Given the description of an element on the screen output the (x, y) to click on. 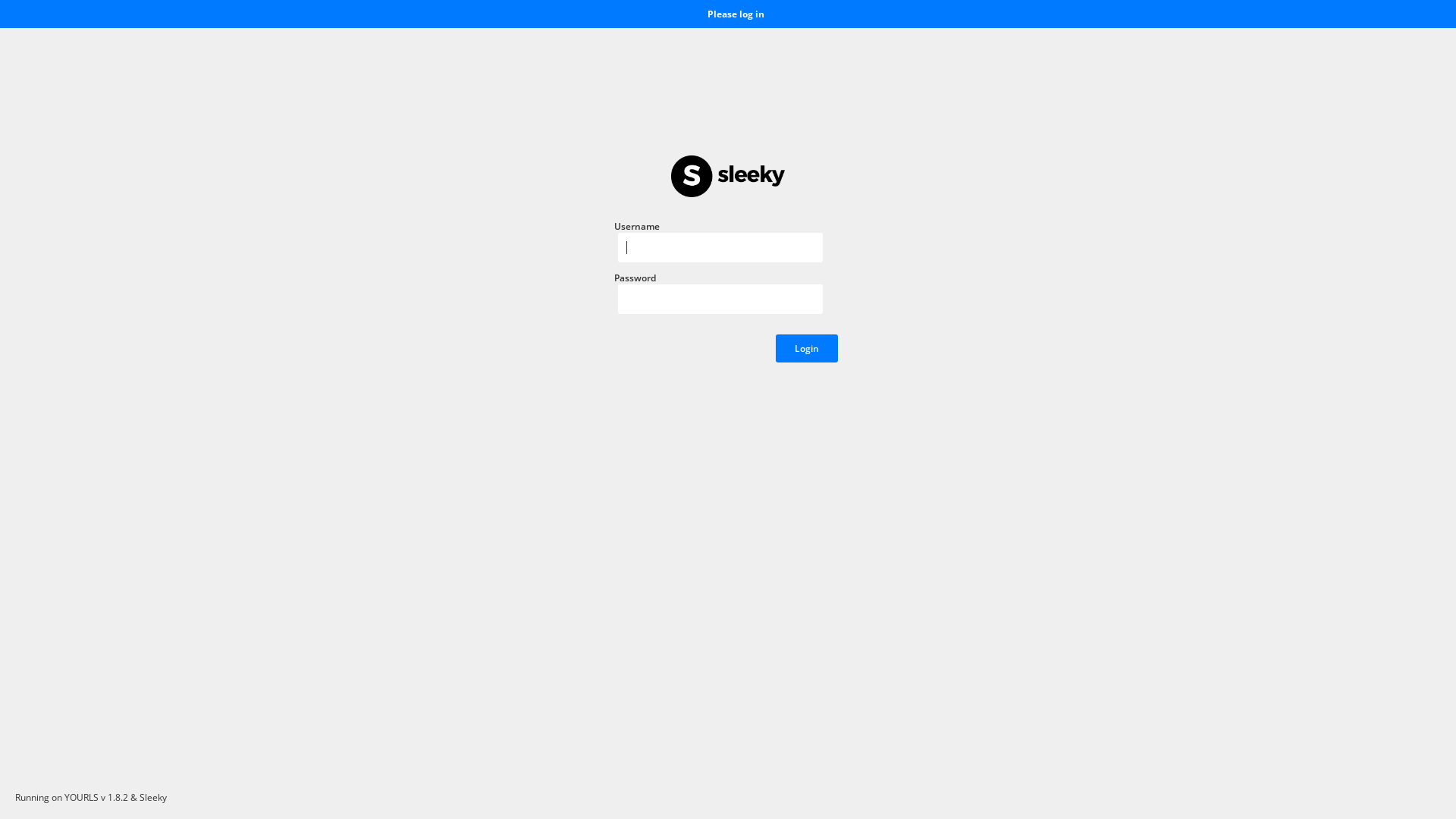
Sleeky Element type: text (152, 796)
Login Element type: text (806, 348)
YOURLS Element type: text (81, 796)
